Given the description of an element on the screen output the (x, y) to click on. 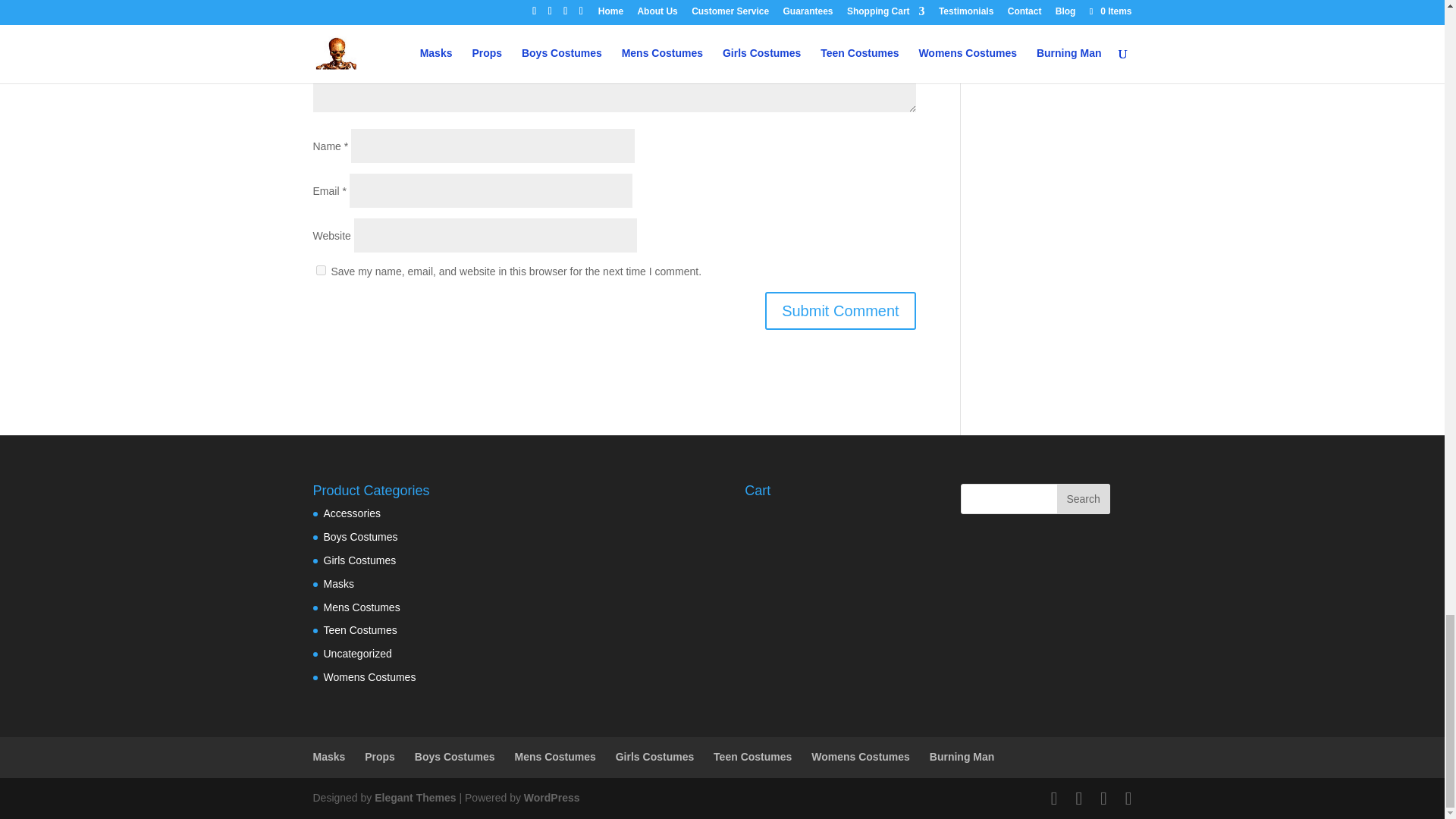
Submit Comment (840, 310)
Mens Costumes (360, 607)
Womens Costumes (368, 676)
Masks (338, 583)
Uncategorized (357, 653)
Teen Costumes (359, 630)
Boys Costumes (360, 536)
Search (1083, 499)
Accessories (351, 512)
Search (1083, 499)
Girls Costumes (359, 560)
Masks (329, 756)
Submit Comment (840, 310)
yes (319, 270)
Premium WordPress Themes (414, 797)
